Given the description of an element on the screen output the (x, y) to click on. 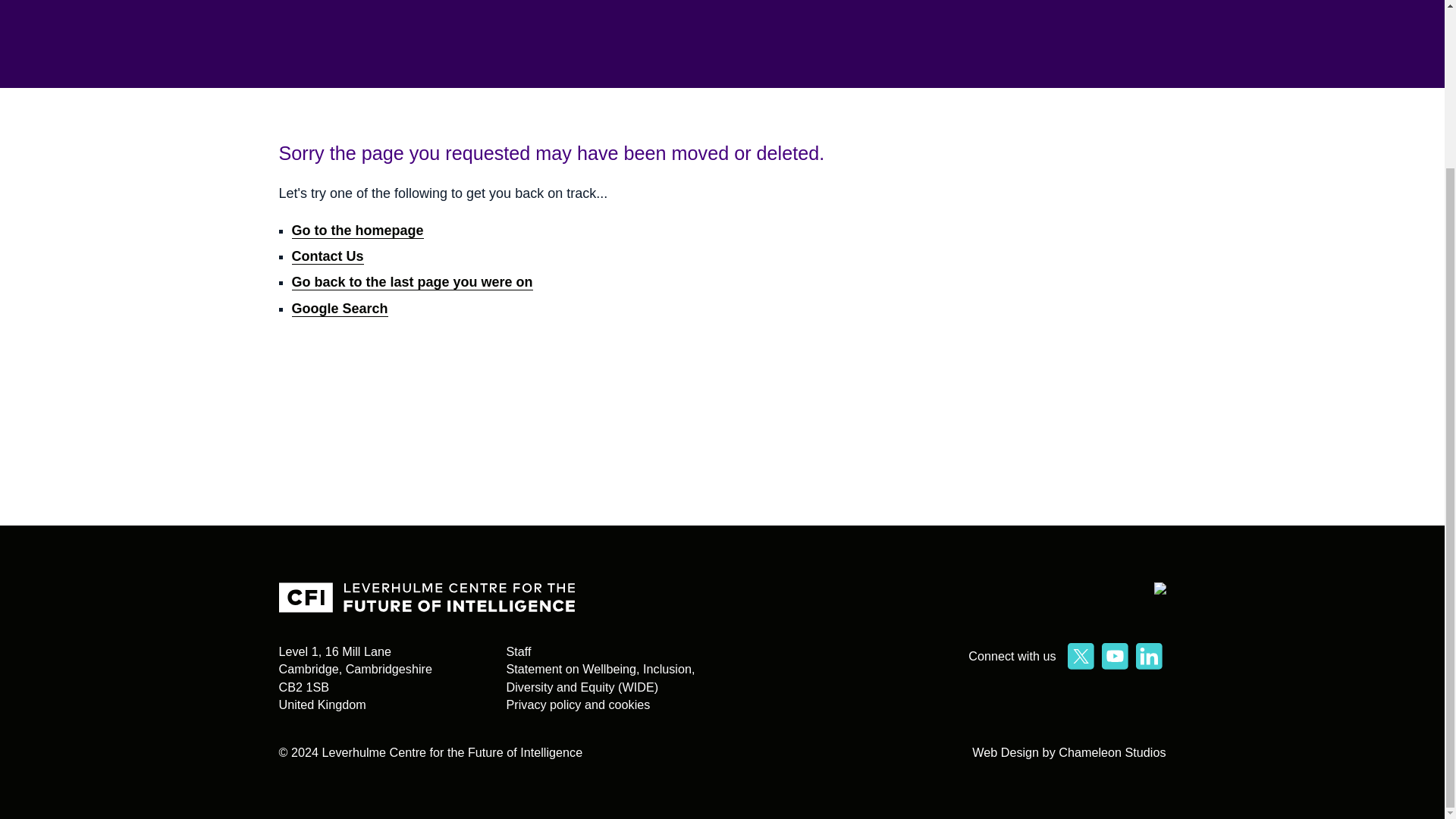
Go to the homepage (357, 230)
Staff (518, 651)
Go back to the last page you were on (411, 282)
Google Search (339, 308)
Contact Us (326, 256)
